Given the description of an element on the screen output the (x, y) to click on. 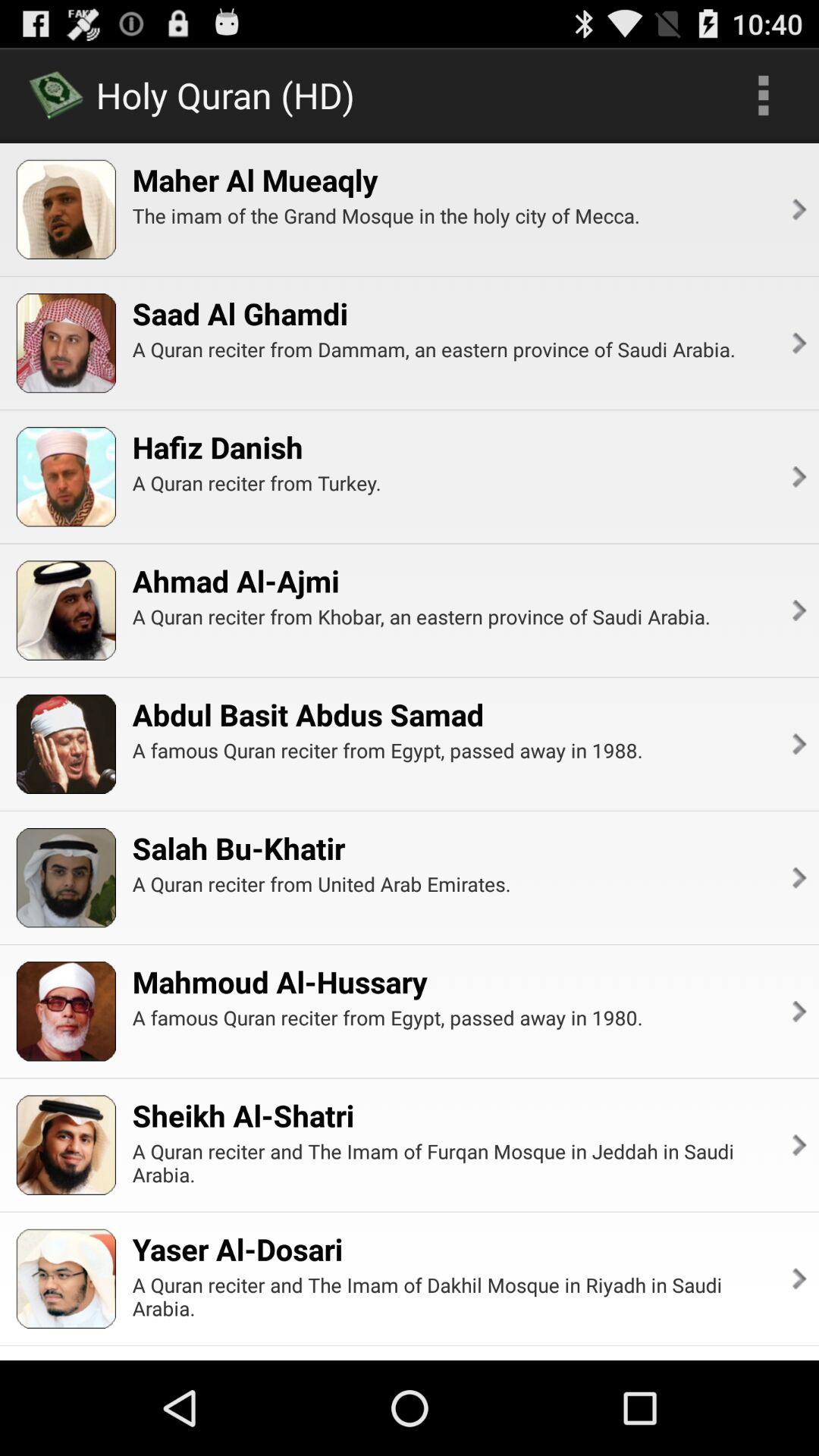
press item above the a quran reciter item (217, 447)
